Given the description of an element on the screen output the (x, y) to click on. 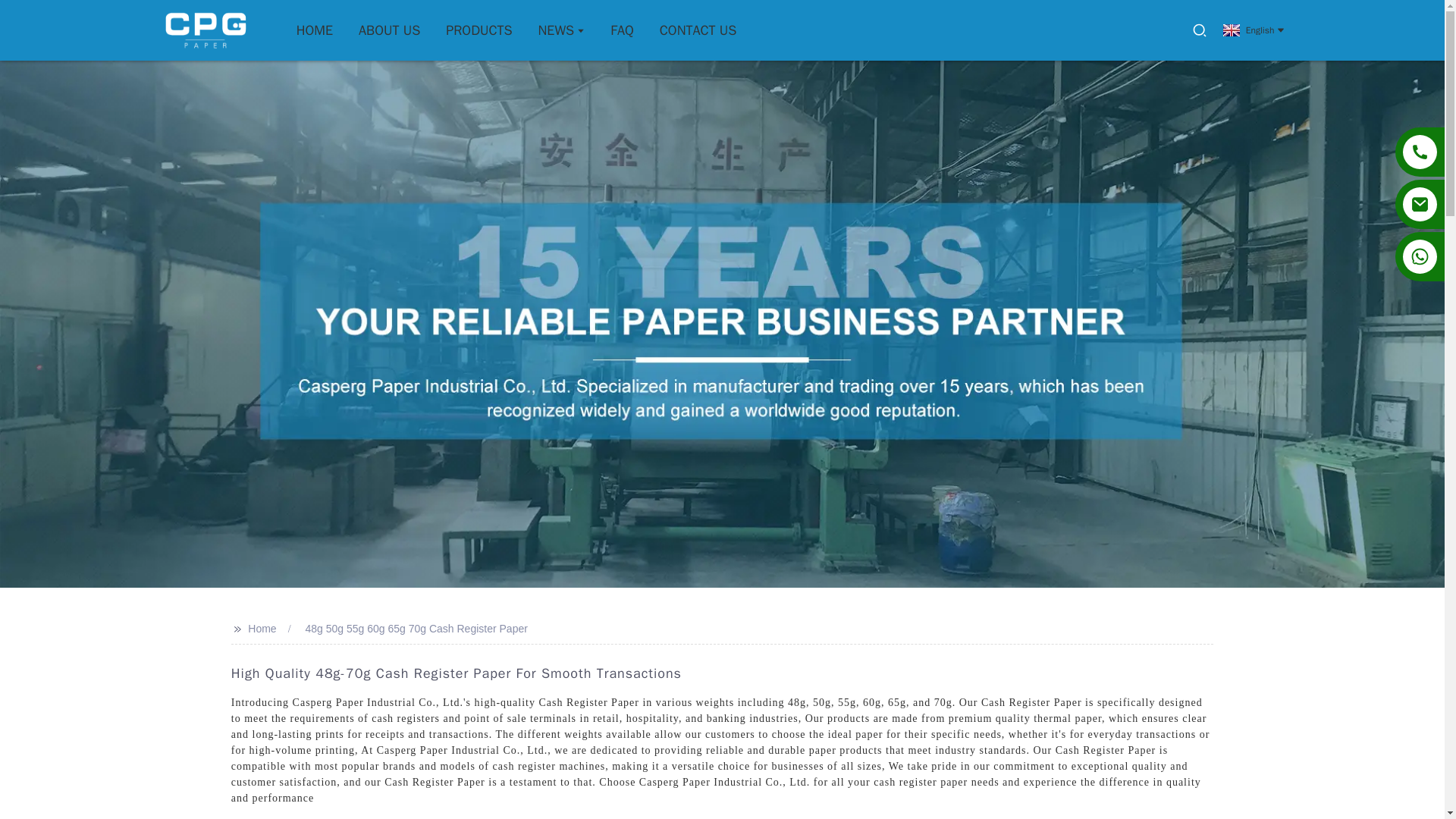
HOME (314, 30)
PRODUCTS (478, 30)
news (561, 30)
about-us (389, 30)
products (478, 30)
NEWS (561, 30)
index (314, 30)
ABOUT US (389, 30)
Home (261, 628)
contact-us (697, 30)
